Given the description of an element on the screen output the (x, y) to click on. 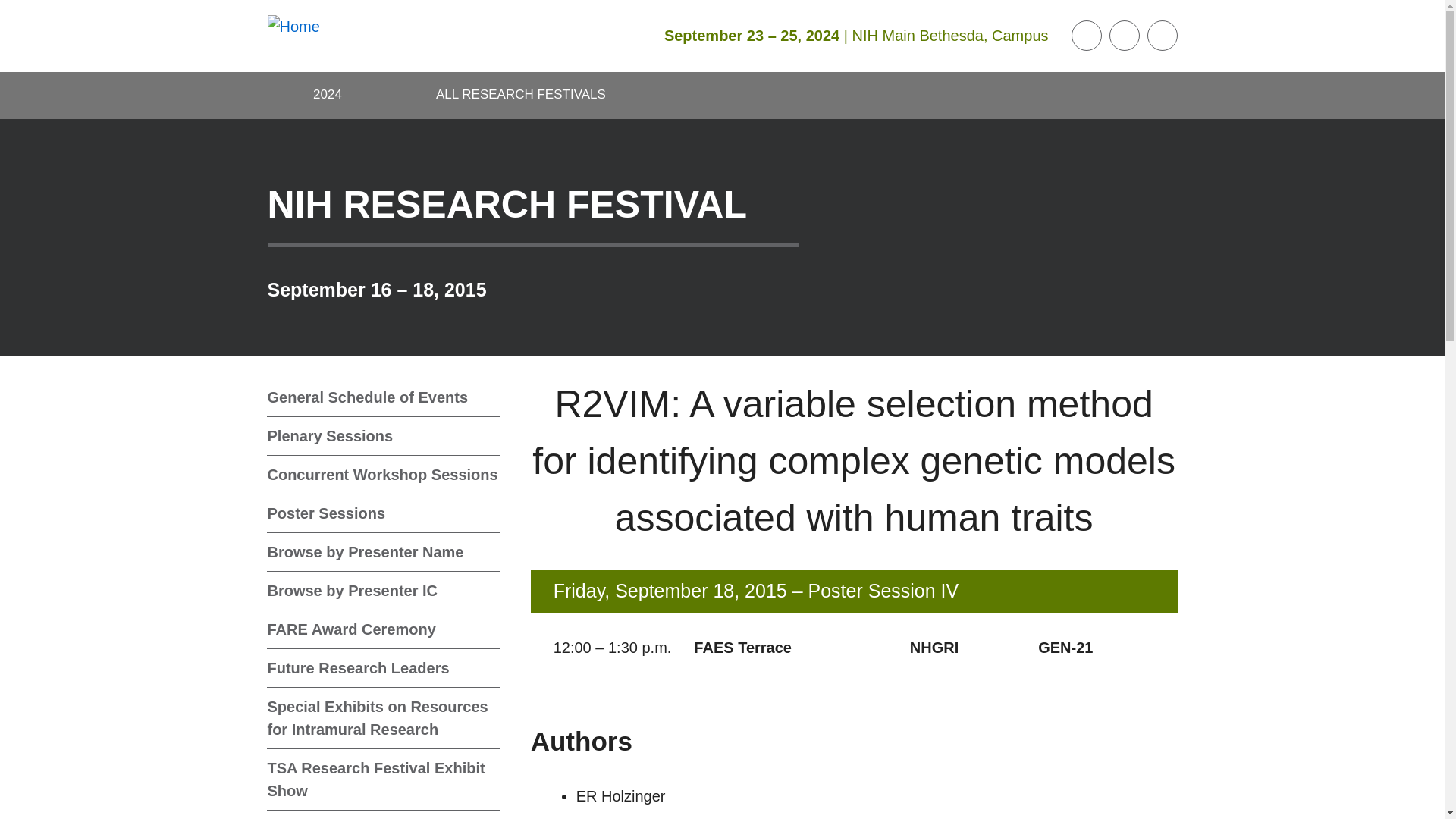
2024 (327, 95)
2024 NIH Research Festival (327, 95)
Skip to main content (11, 11)
